Given the description of an element on the screen output the (x, y) to click on. 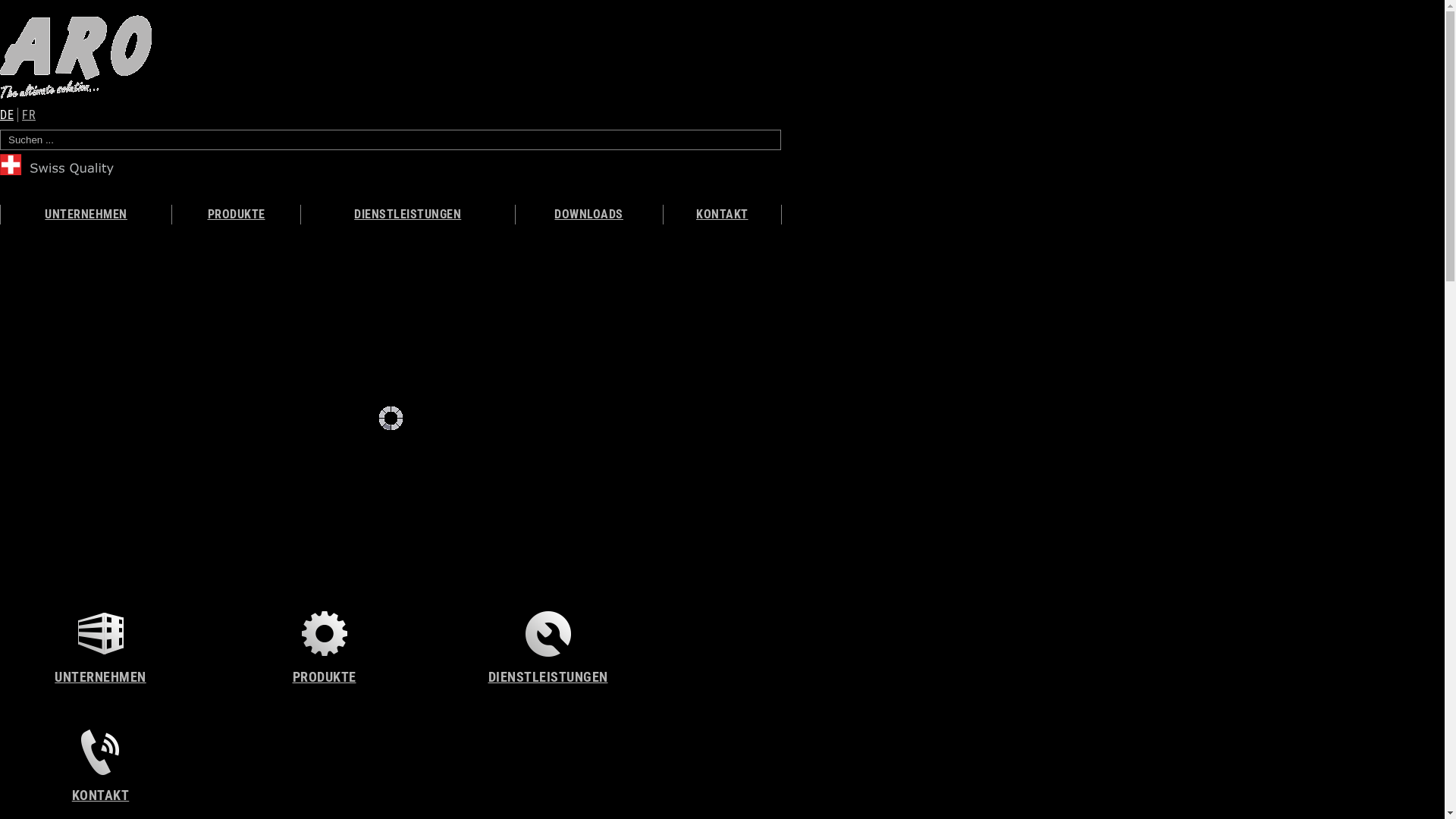
UNTERNEHMEN Element type: text (85, 214)
PRODUKTE Element type: text (235, 214)
DIENSTLEISTUNGEN Element type: text (407, 214)
DIENSTLEISTUNGEN Element type: text (547, 647)
KONTAKT Element type: text (722, 214)
UNTERNEHMEN Element type: text (100, 647)
FR Element type: text (28, 114)
DE Element type: text (9, 114)
DOWNLOADS Element type: text (588, 214)
PRODUKTE Element type: text (323, 647)
